Given the description of an element on the screen output the (x, y) to click on. 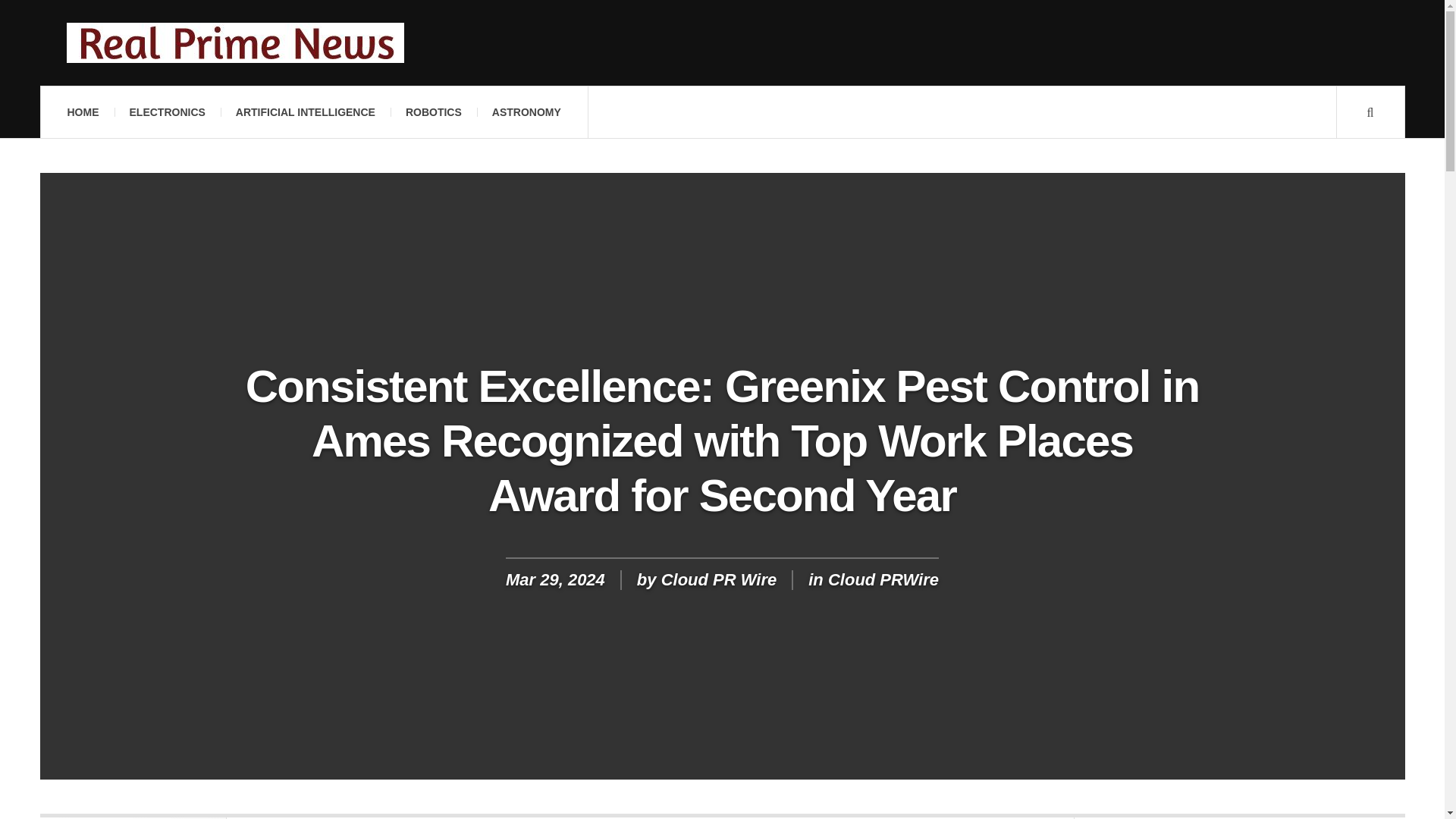
ROBOTICS (433, 112)
ELECTRONICS (166, 112)
Cloud PRWire (883, 579)
ASTRONOMY (526, 112)
HOME (81, 112)
ARTIFICIAL INTELLIGENCE (305, 112)
View all posts in Cloud PRWire (883, 579)
Real Prime News (235, 42)
Cloud PR Wire (719, 579)
